Given the description of an element on the screen output the (x, y) to click on. 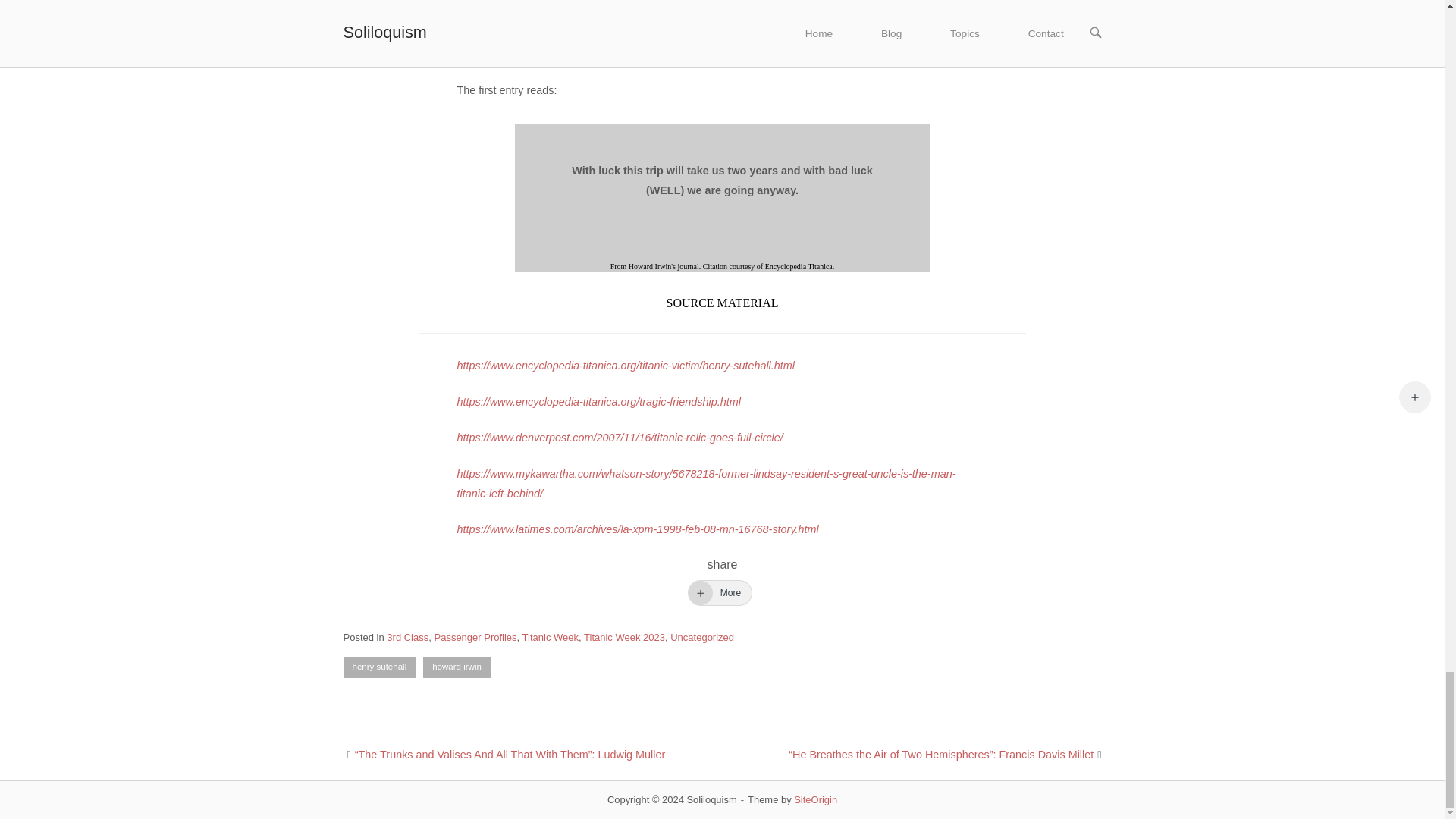
Passenger Profiles (474, 636)
henry sutehall (378, 667)
Titanic Week 2023 (624, 636)
3rd Class (407, 636)
SiteOrigin (815, 799)
More (719, 592)
Titanic Week (550, 636)
Uncategorized (701, 636)
howard irwin (456, 667)
